Given the description of an element on the screen output the (x, y) to click on. 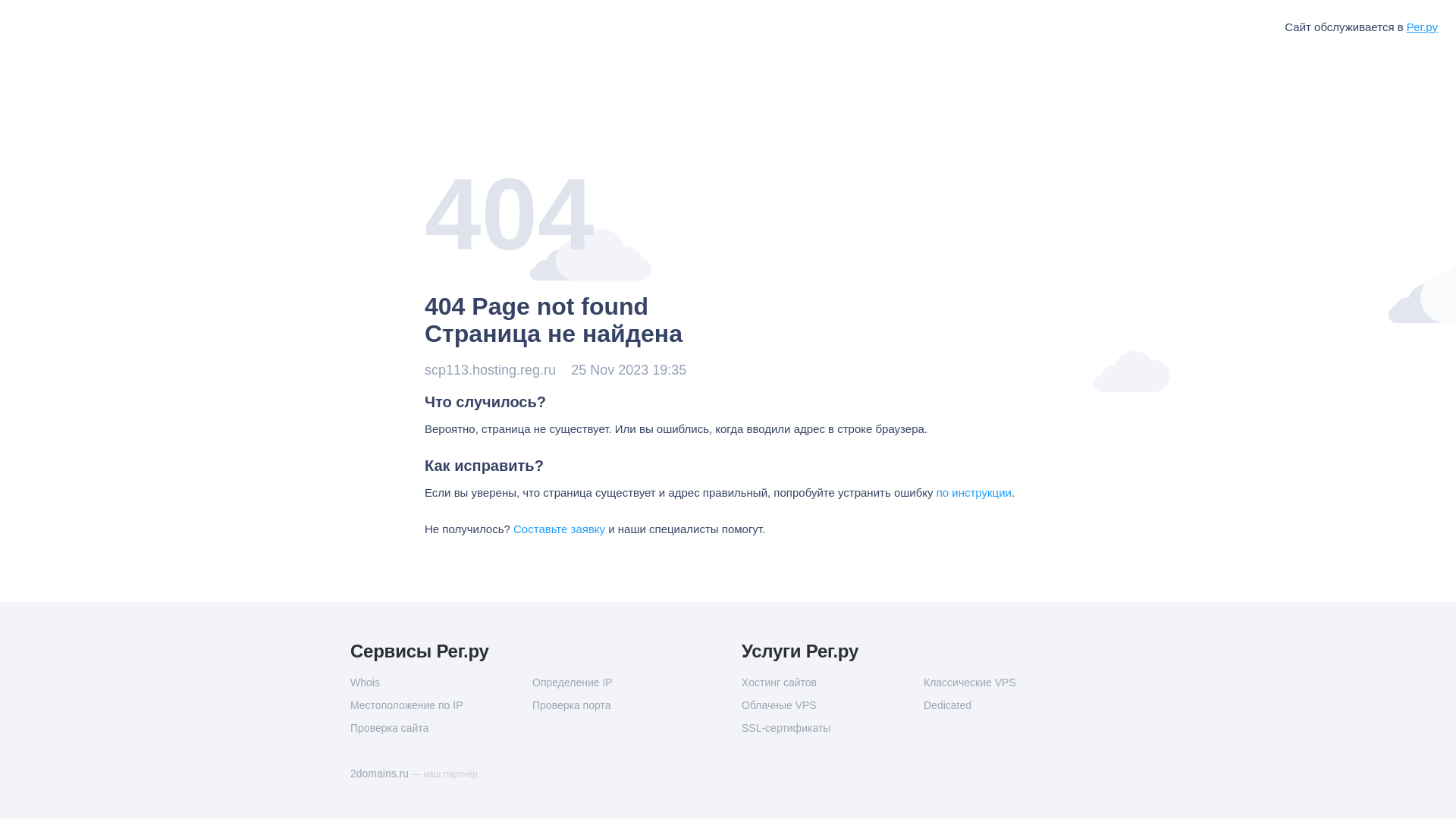
Whois Element type: text (441, 682)
2domains.ru Element type: text (380, 773)
Dedicated Element type: text (1014, 705)
